Given the description of an element on the screen output the (x, y) to click on. 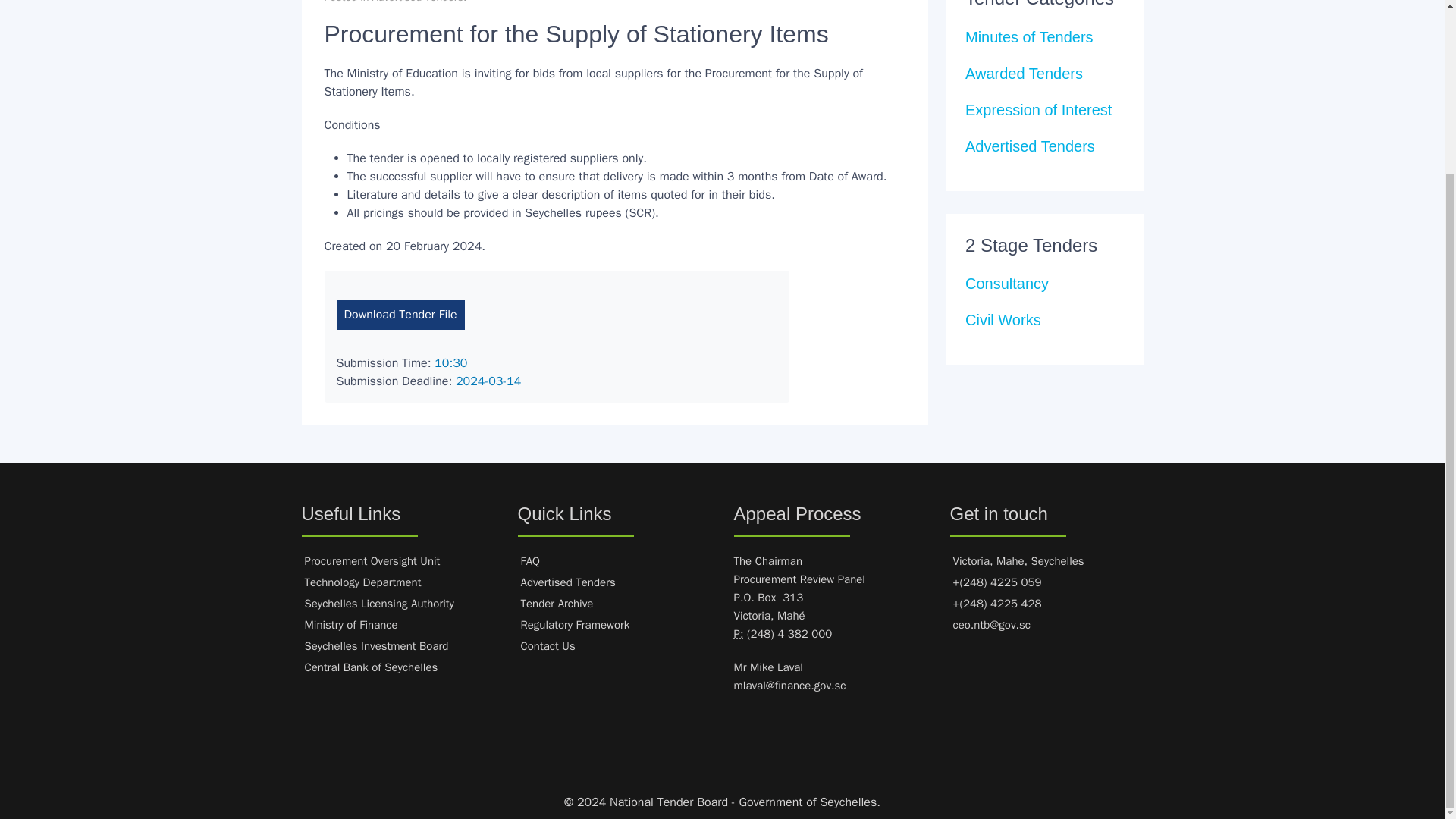
Advertised Tenders (1029, 146)
Consultancy (1006, 283)
Seychelles Licensing Authority (379, 603)
Download Tender File (400, 314)
Advertised Tenders (417, 2)
Technology Department (363, 581)
Awarded Tenders (1024, 73)
Expression of Interest (1038, 109)
Click to download (400, 314)
Minutes of Tenders (1029, 36)
